Given the description of an element on the screen output the (x, y) to click on. 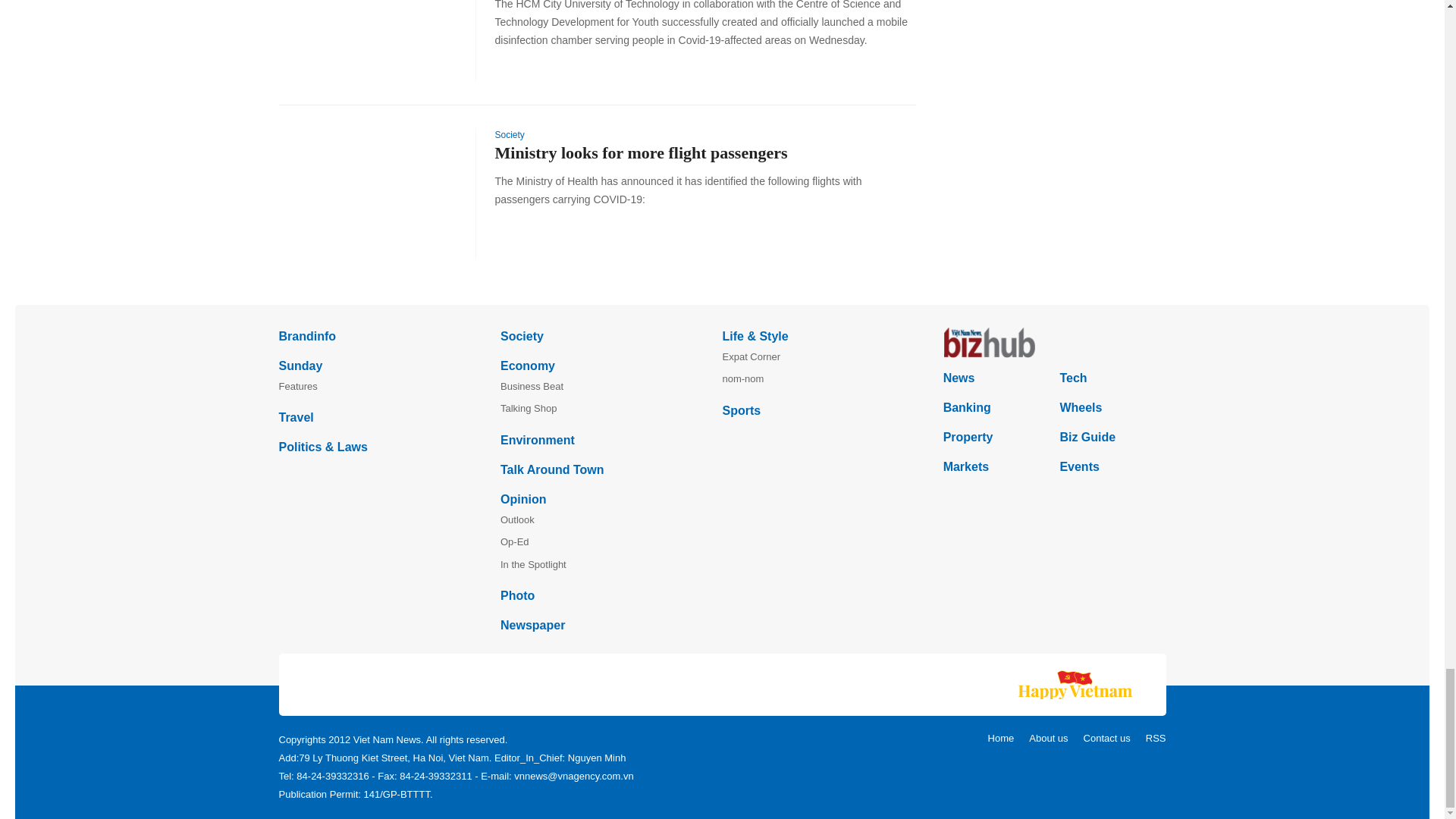
bizhub (1054, 342)
